Given the description of an element on the screen output the (x, y) to click on. 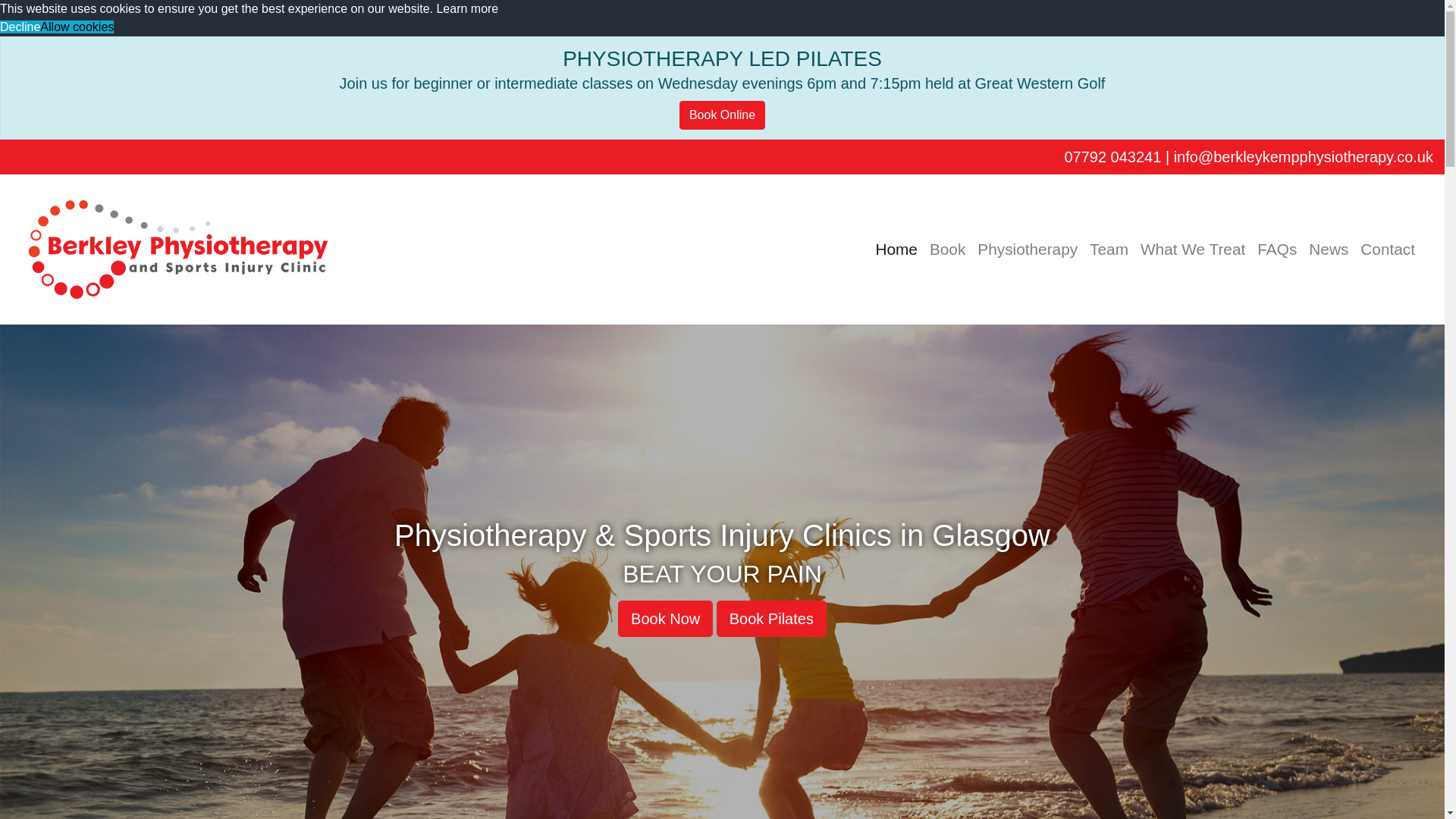
What We Treat (1192, 248)
07792 043241 (1112, 156)
Home (896, 248)
Learn more (466, 8)
Team (1108, 248)
FAQs (1276, 248)
Contact (1387, 248)
Book Pilates (771, 618)
Book Now (665, 618)
Allow cookies (76, 26)
Book Online (722, 114)
Decline (20, 26)
Physiotherapy (1027, 248)
Book (947, 248)
News (1328, 248)
